Given the description of an element on the screen output the (x, y) to click on. 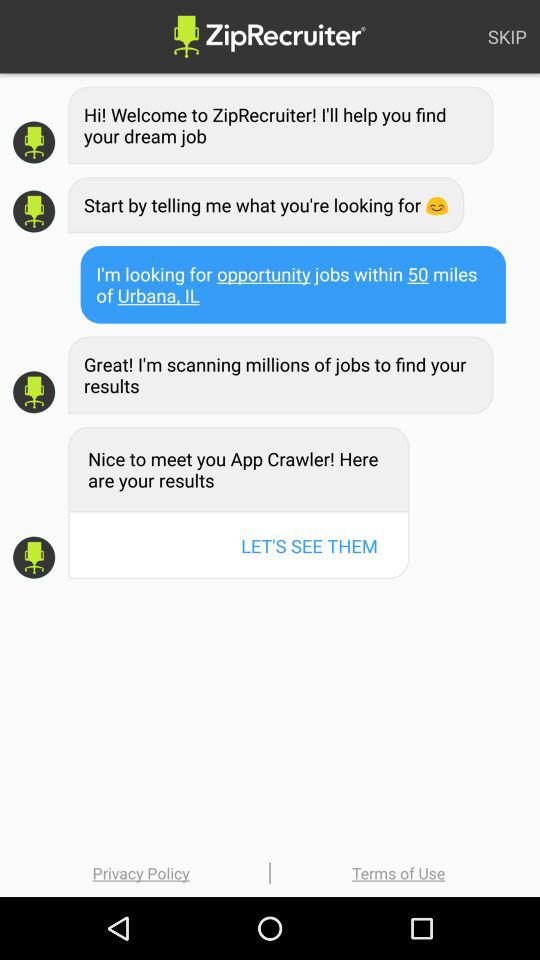
scroll to the privacy policy item (141, 872)
